Given the description of an element on the screen output the (x, y) to click on. 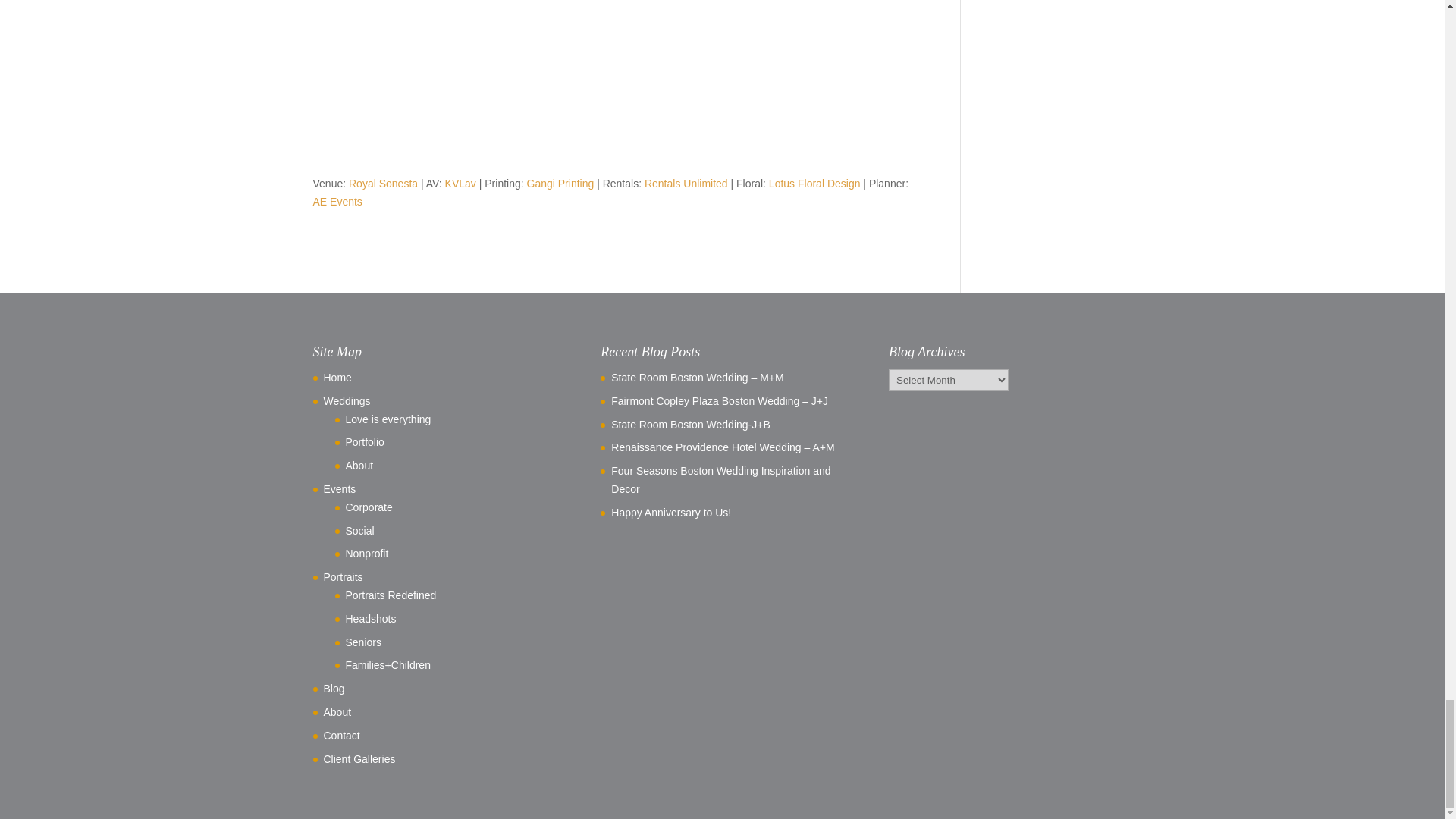
Royal Sonesta (383, 183)
Gangi Printing (560, 183)
Home (336, 377)
Weddings (346, 400)
Rentals Unlimited (686, 183)
Lotus Floral Design (814, 183)
KVLav (460, 183)
